Given the description of an element on the screen output the (x, y) to click on. 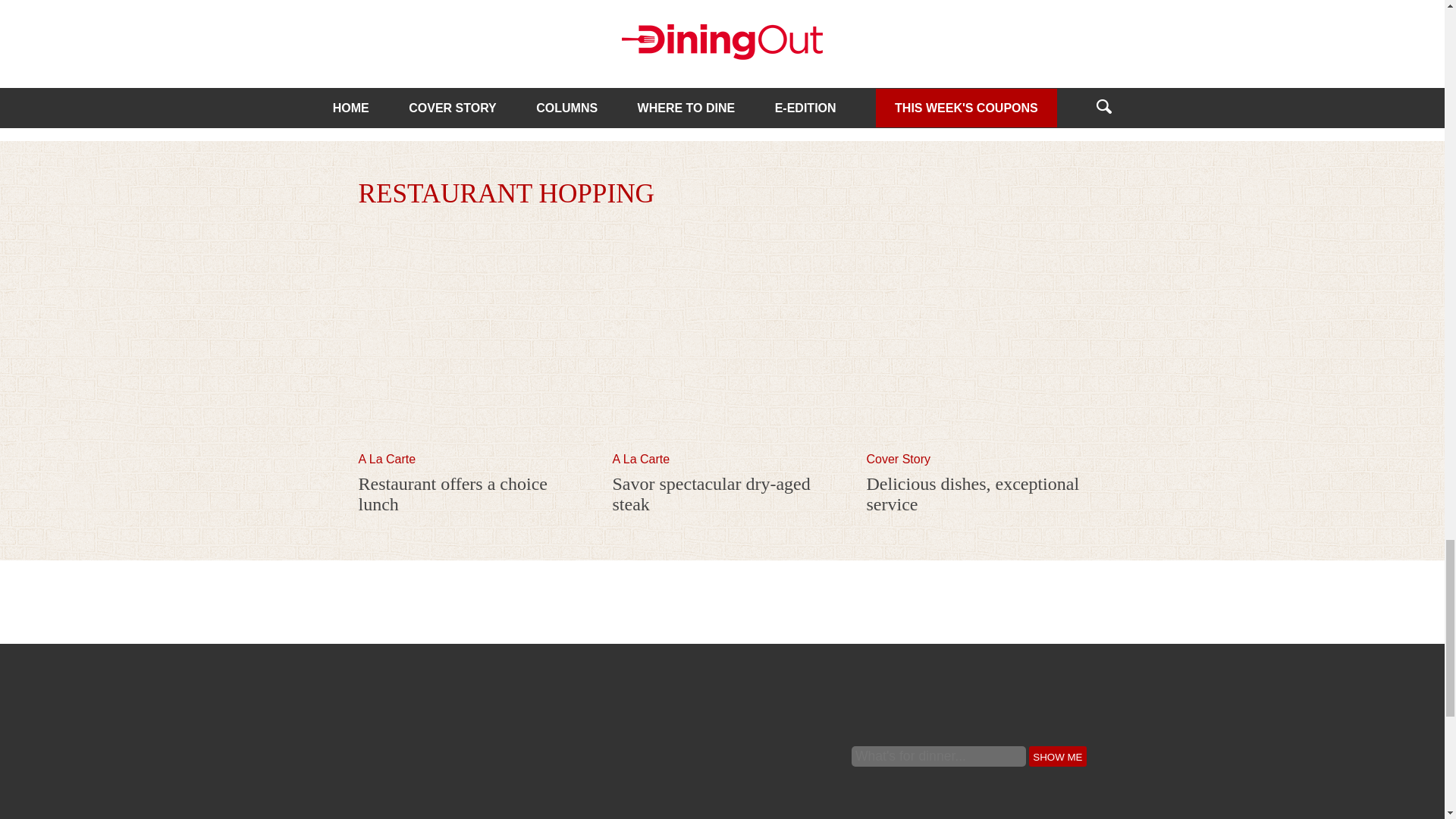
Savor spectacular dry-aged steak (711, 494)
Restaurant offers a choice lunch (468, 445)
Restaurant offers a choice lunch (452, 494)
A La Carte (386, 459)
Savor spectacular dry-aged steak (722, 445)
Restaurant offers a choice lunch (452, 494)
A La Carte (640, 459)
A La Carte (640, 459)
A La Carte (386, 459)
